Given the description of an element on the screen output the (x, y) to click on. 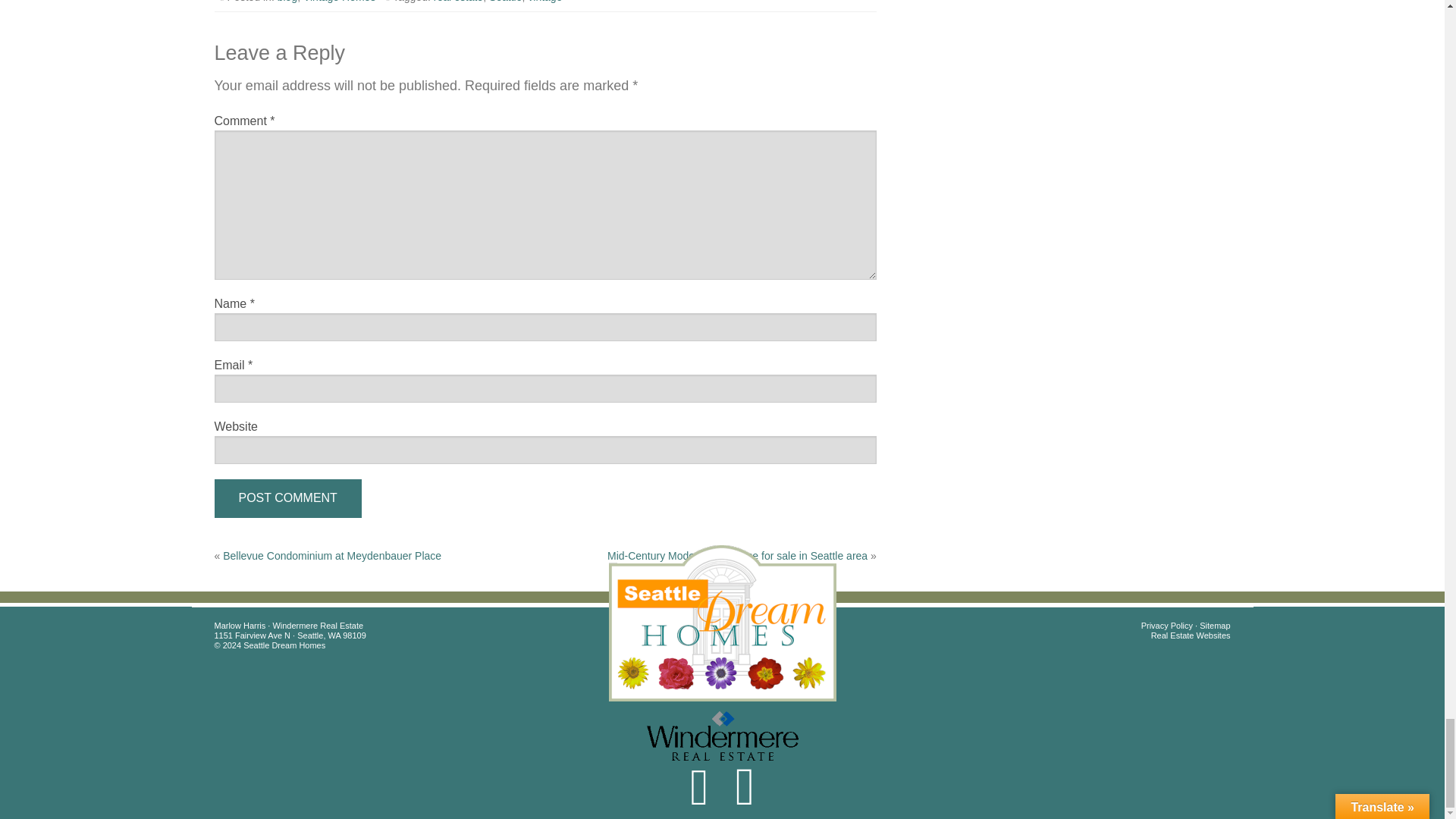
Post Comment (287, 498)
